Given the description of an element on the screen output the (x, y) to click on. 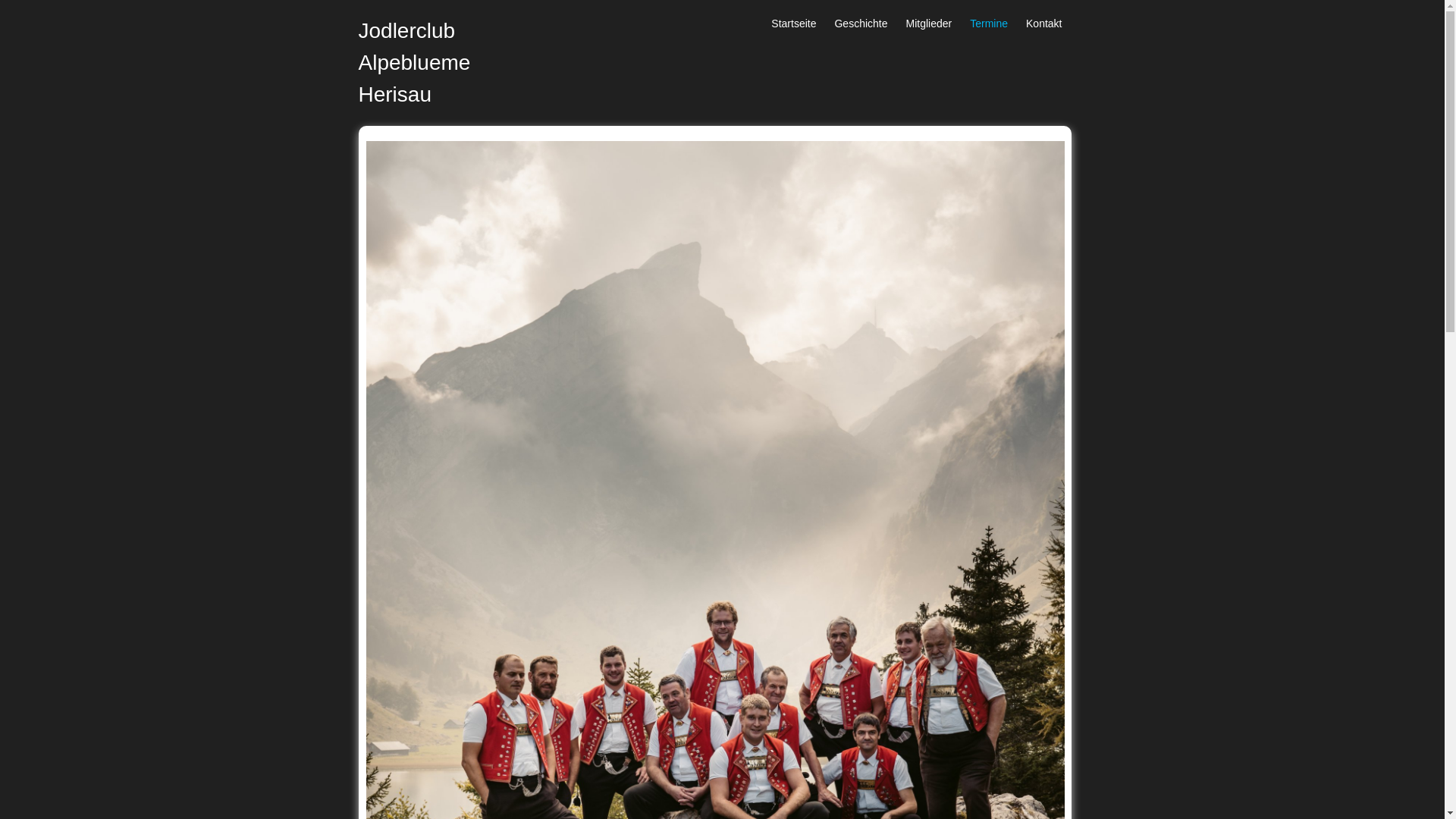
Startseite Element type: text (793, 23)
Kontakt Element type: text (1043, 23)
Mitglieder Element type: text (929, 23)
Termine Element type: text (988, 23)
Geschichte Element type: text (860, 23)
Jodlerclub Alpeblueme Herisau Element type: text (413, 62)
